Given the description of an element on the screen output the (x, y) to click on. 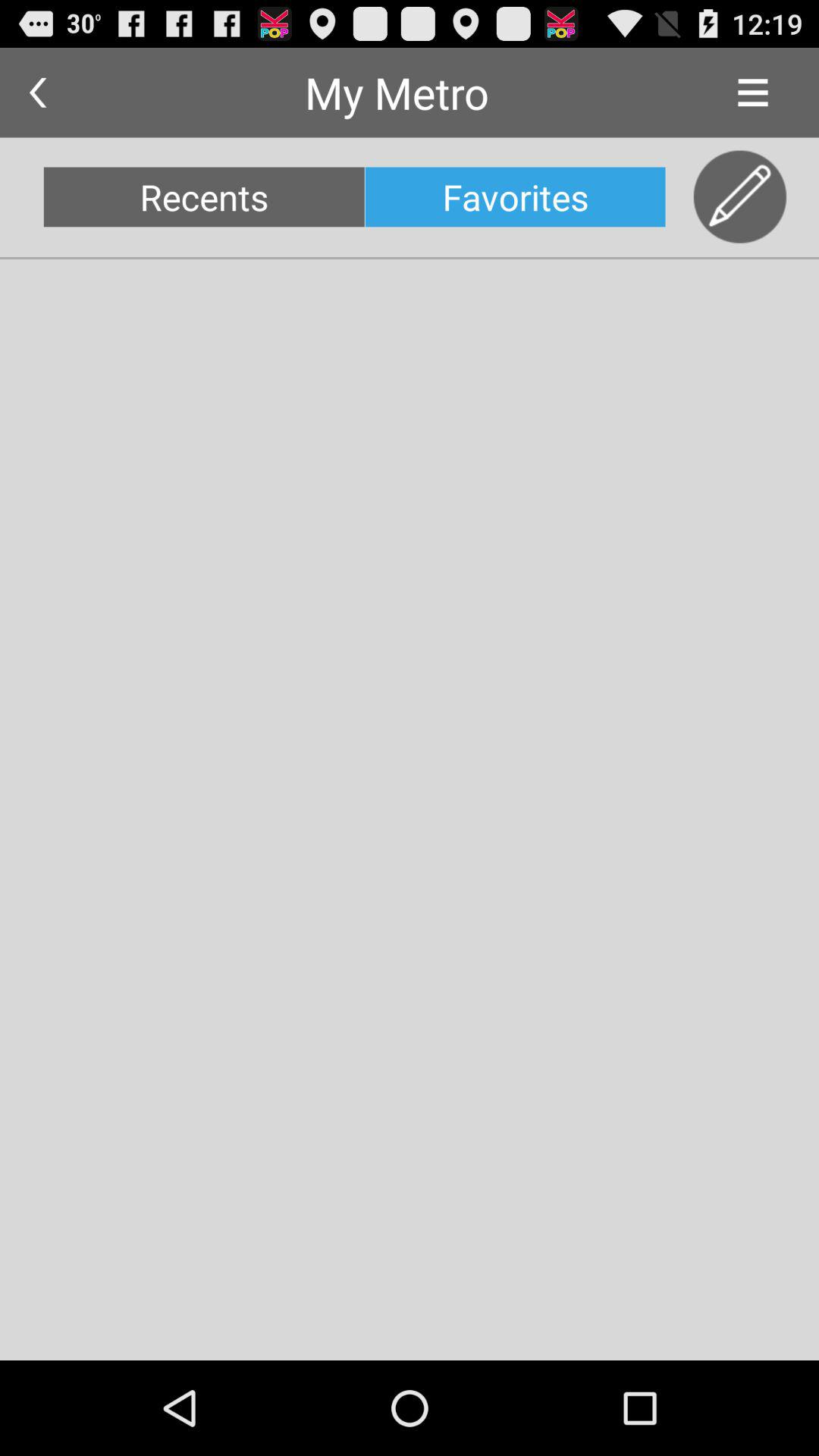
jump until recents item (203, 196)
